Given the description of an element on the screen output the (x, y) to click on. 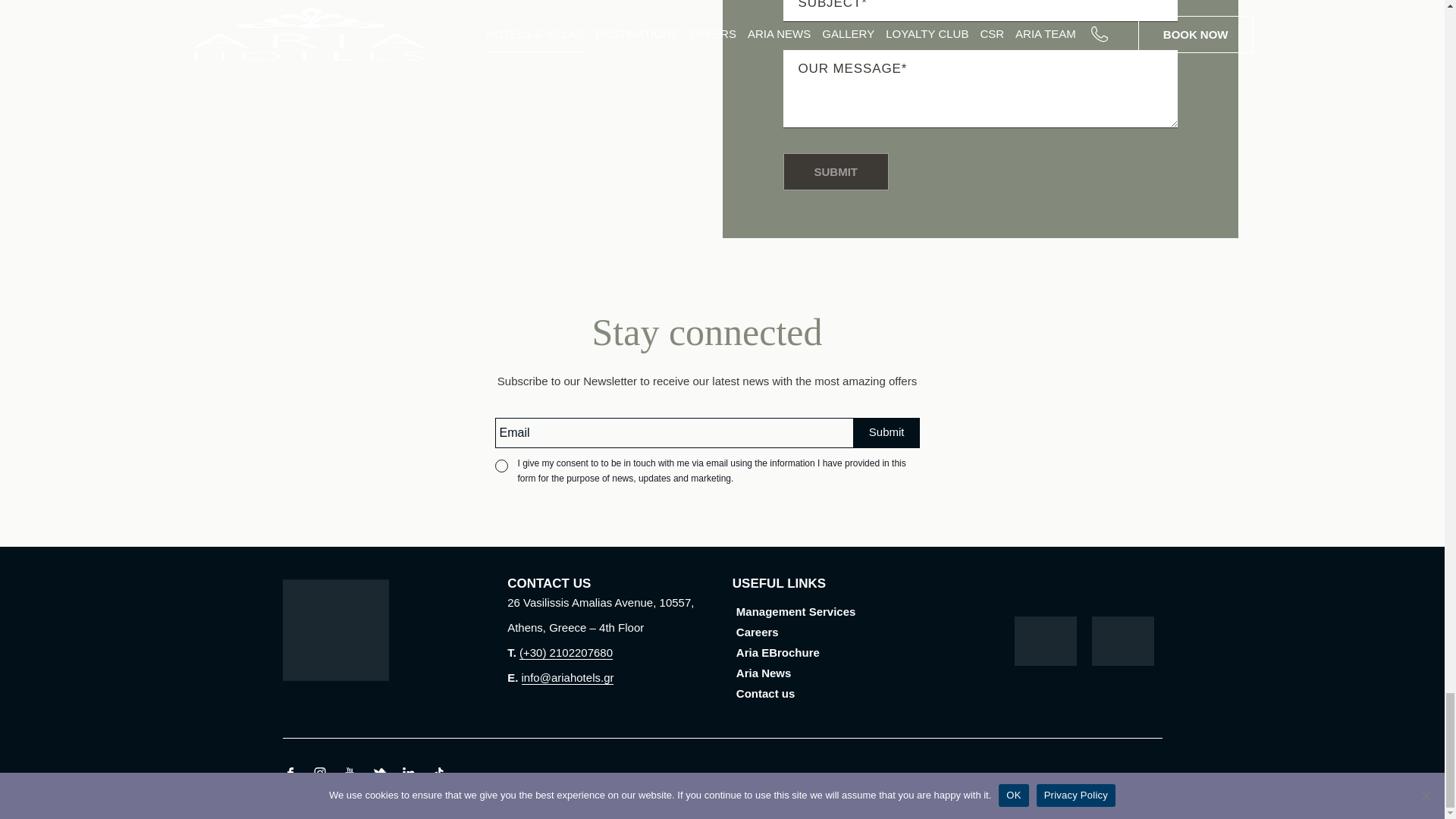
SUBMIT (835, 171)
Submit (886, 431)
Aria Hotels Group (384, 639)
